Given the description of an element on the screen output the (x, y) to click on. 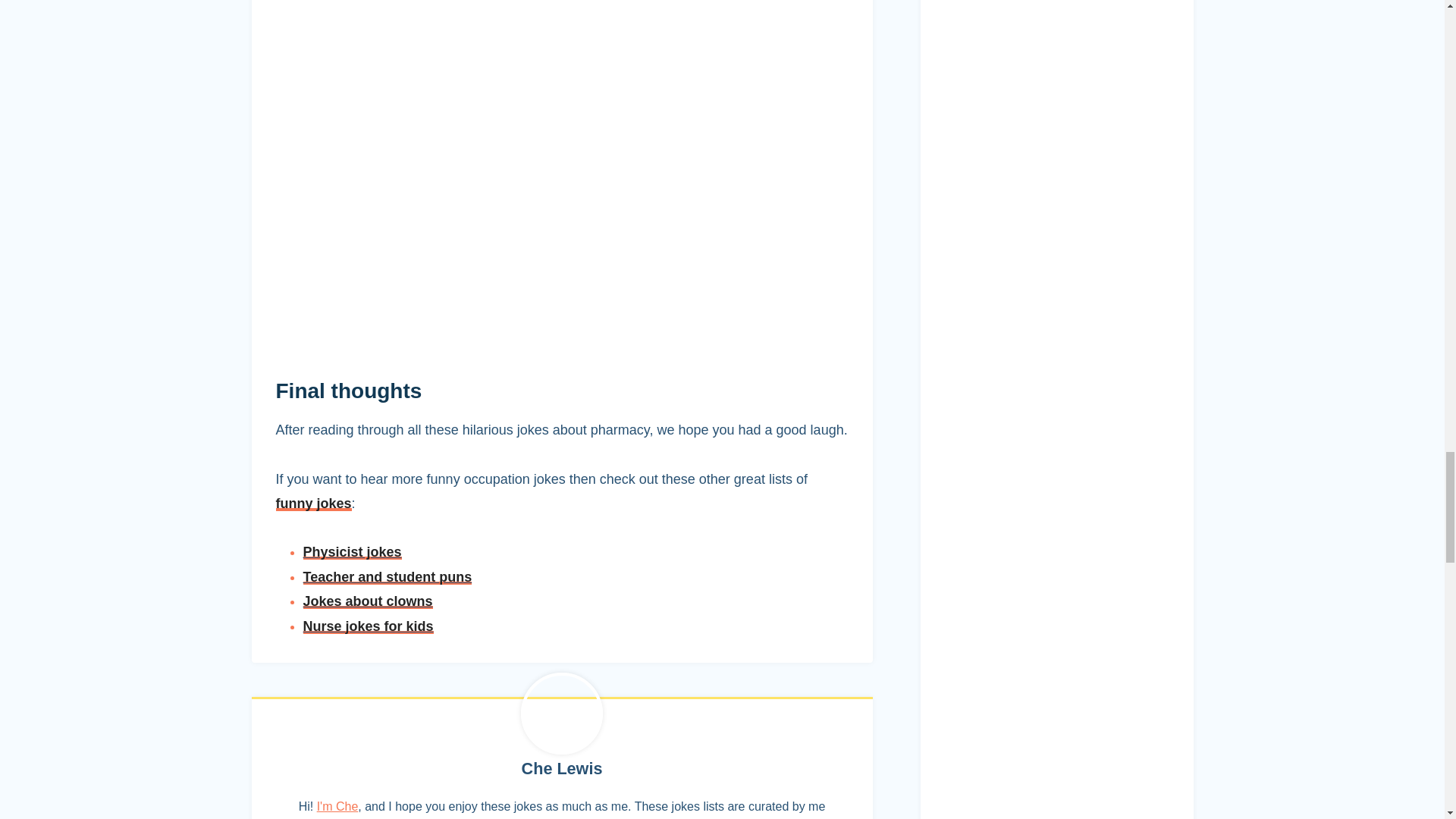
Che Lewis (561, 768)
Teacher and student puns (386, 576)
Jokes about clowns (367, 601)
Physicist jokes (351, 551)
Posts by Che Lewis (561, 768)
Nurse jokes for kids (367, 626)
funny jokes (314, 503)
funny jokes (314, 503)
I'm Che (337, 806)
